Given the description of an element on the screen output the (x, y) to click on. 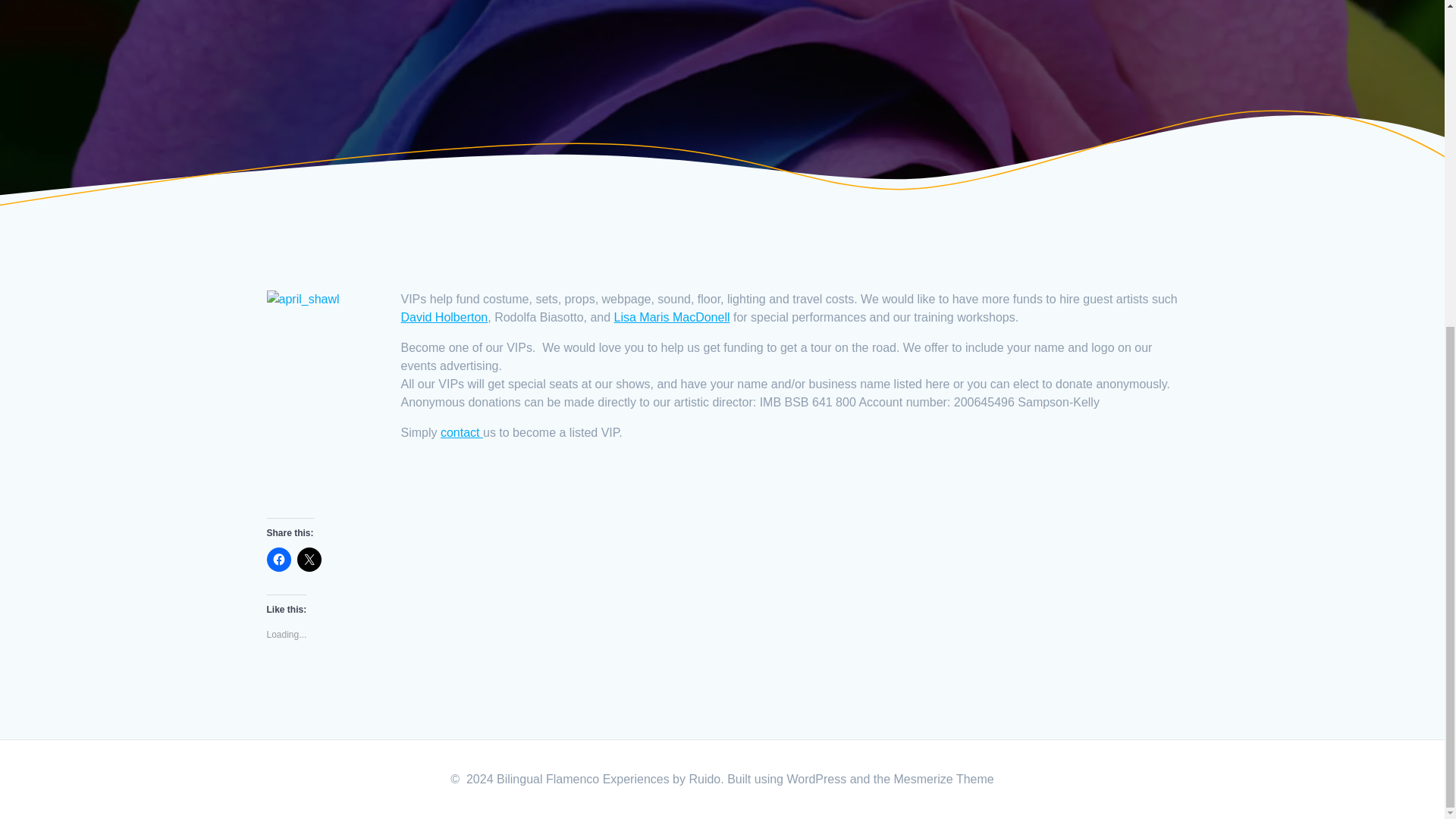
contact (462, 431)
Mesmerize Theme (943, 779)
Click to share on Facebook (278, 559)
Lisa Maris MacDonell (672, 317)
David Holberton (443, 317)
Contact Us (462, 431)
Click to share on X (309, 559)
